Given the description of an element on the screen output the (x, y) to click on. 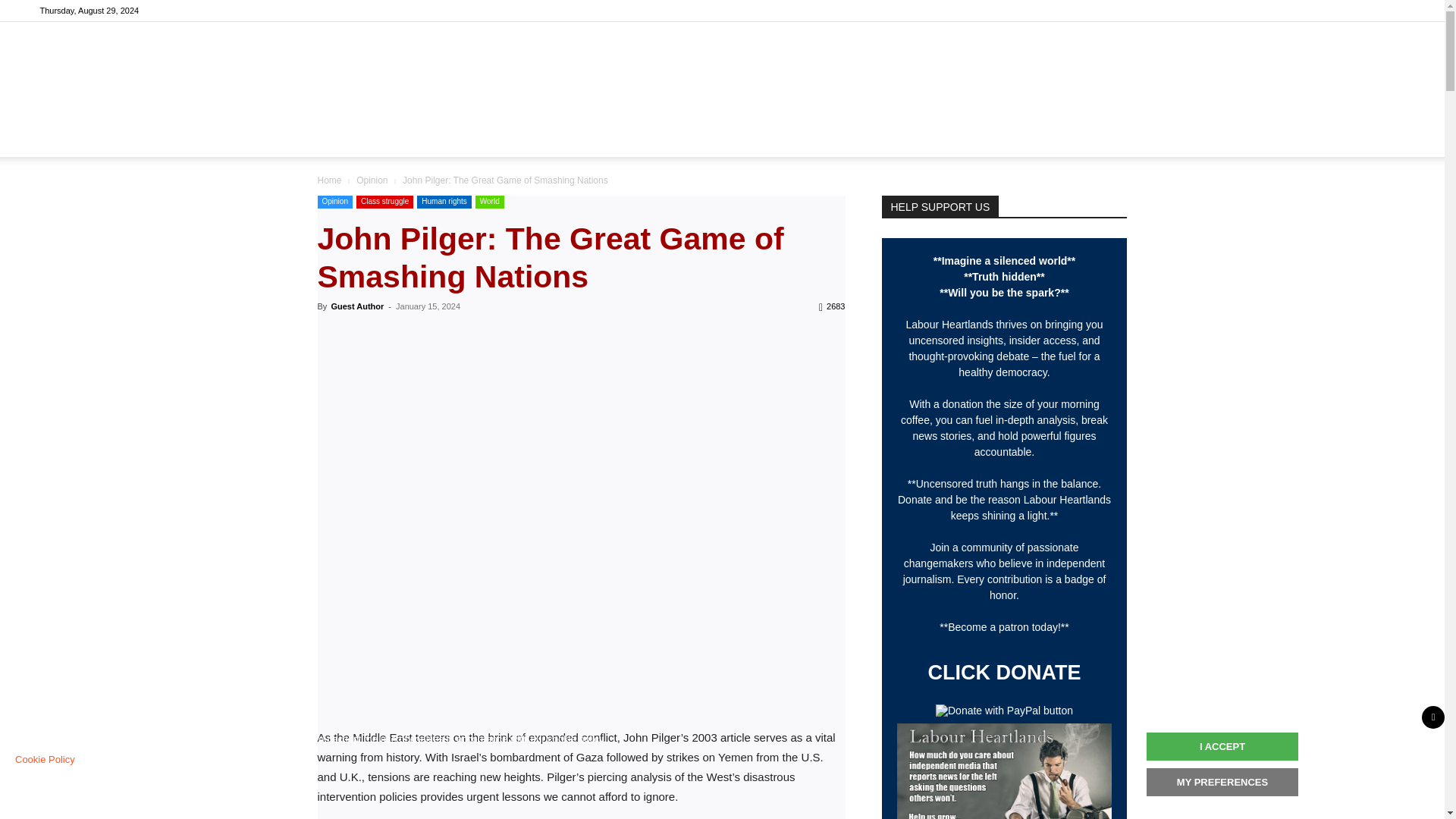
topFacebookLike (430, 333)
POLITICS (472, 138)
HOME (404, 138)
View all posts in Opinion (371, 180)
